Given the description of an element on the screen output the (x, y) to click on. 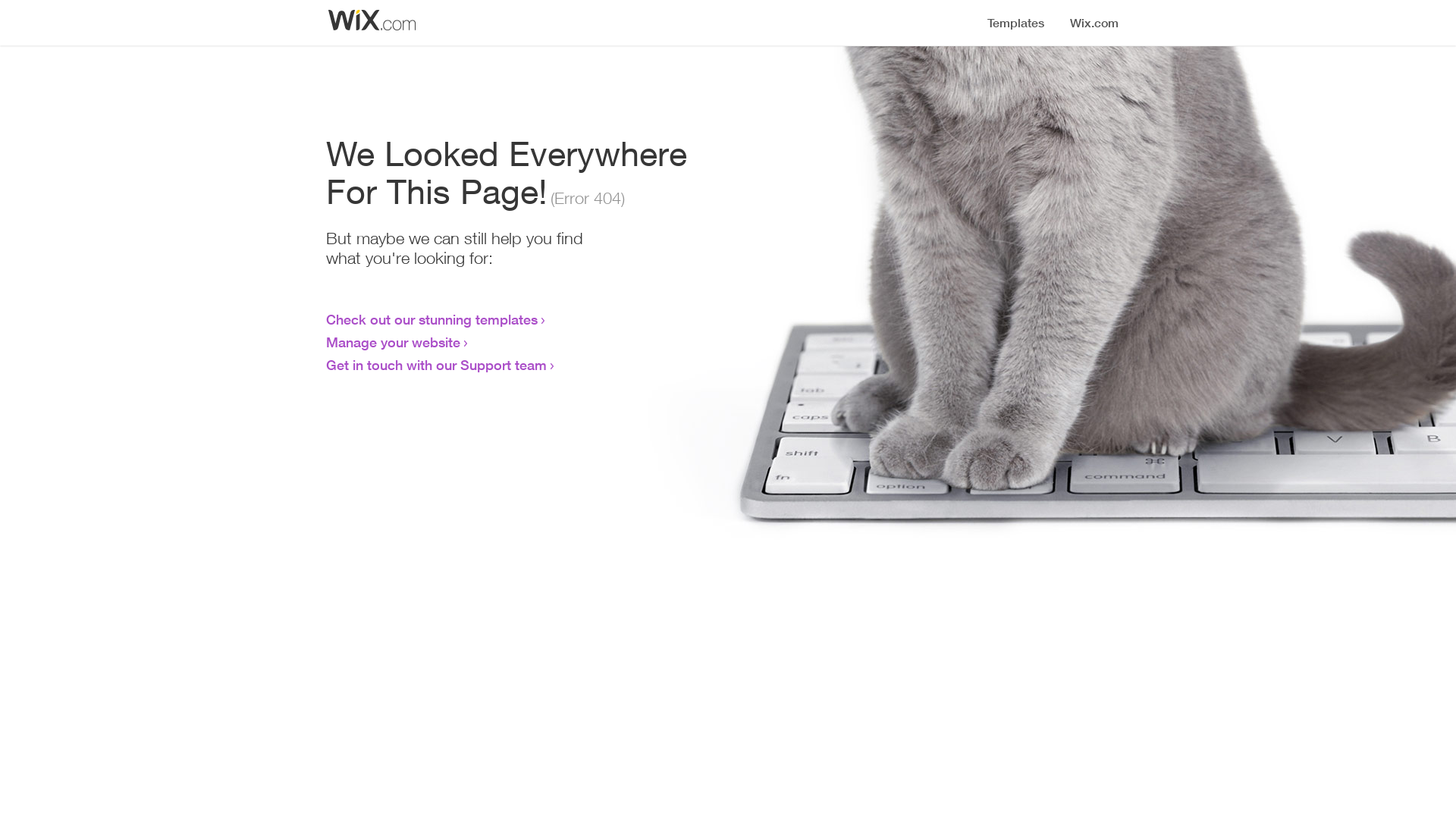
Get in touch with our Support team Element type: text (436, 364)
Manage your website Element type: text (393, 341)
Check out our stunning templates Element type: text (431, 318)
